Given the description of an element on the screen output the (x, y) to click on. 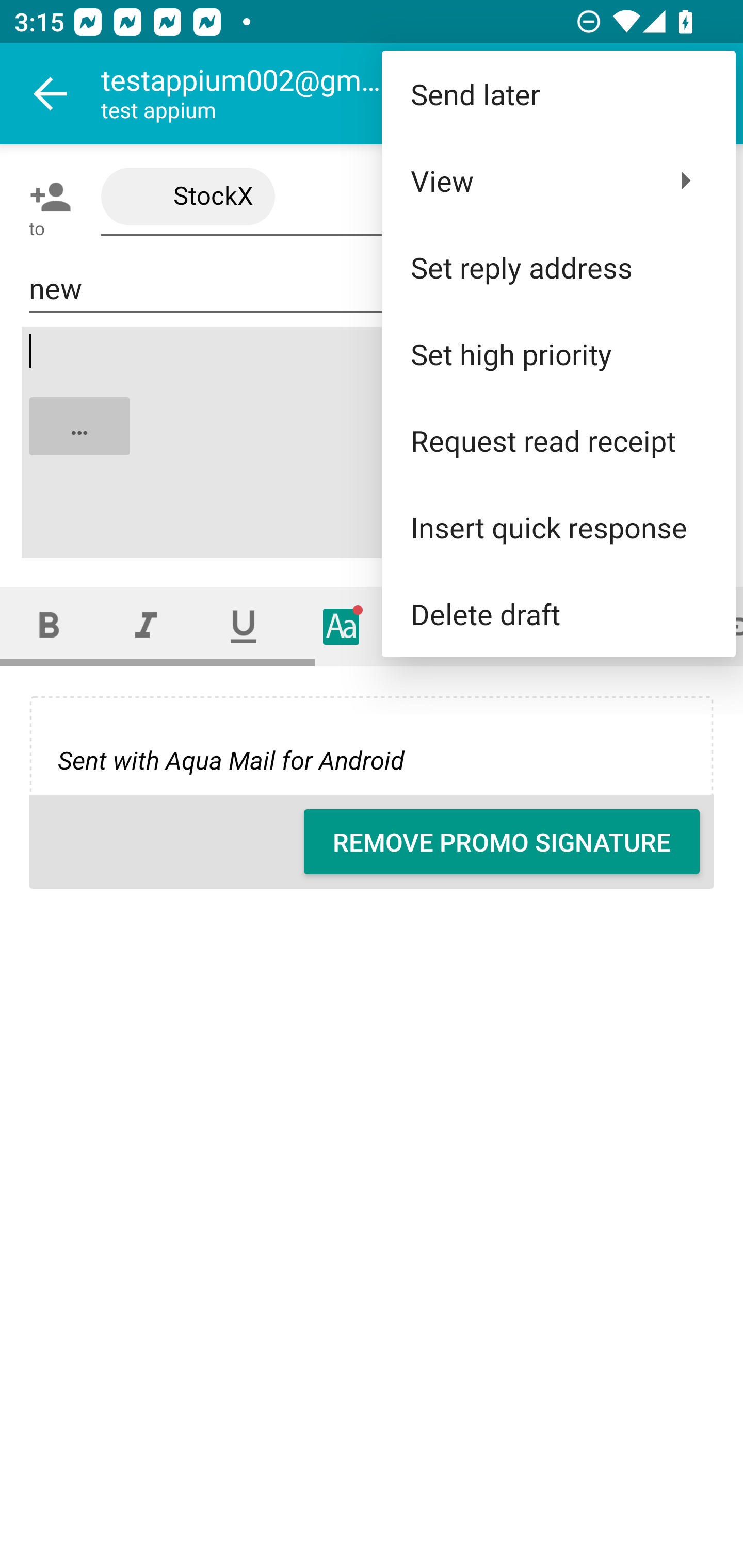
Send later (558, 93)
View (558, 180)
Set reply address (558, 267)
Set high priority (558, 353)
Request read receipt (558, 440)
Insert quick response (558, 527)
Delete draft (558, 613)
